Given the description of an element on the screen output the (x, y) to click on. 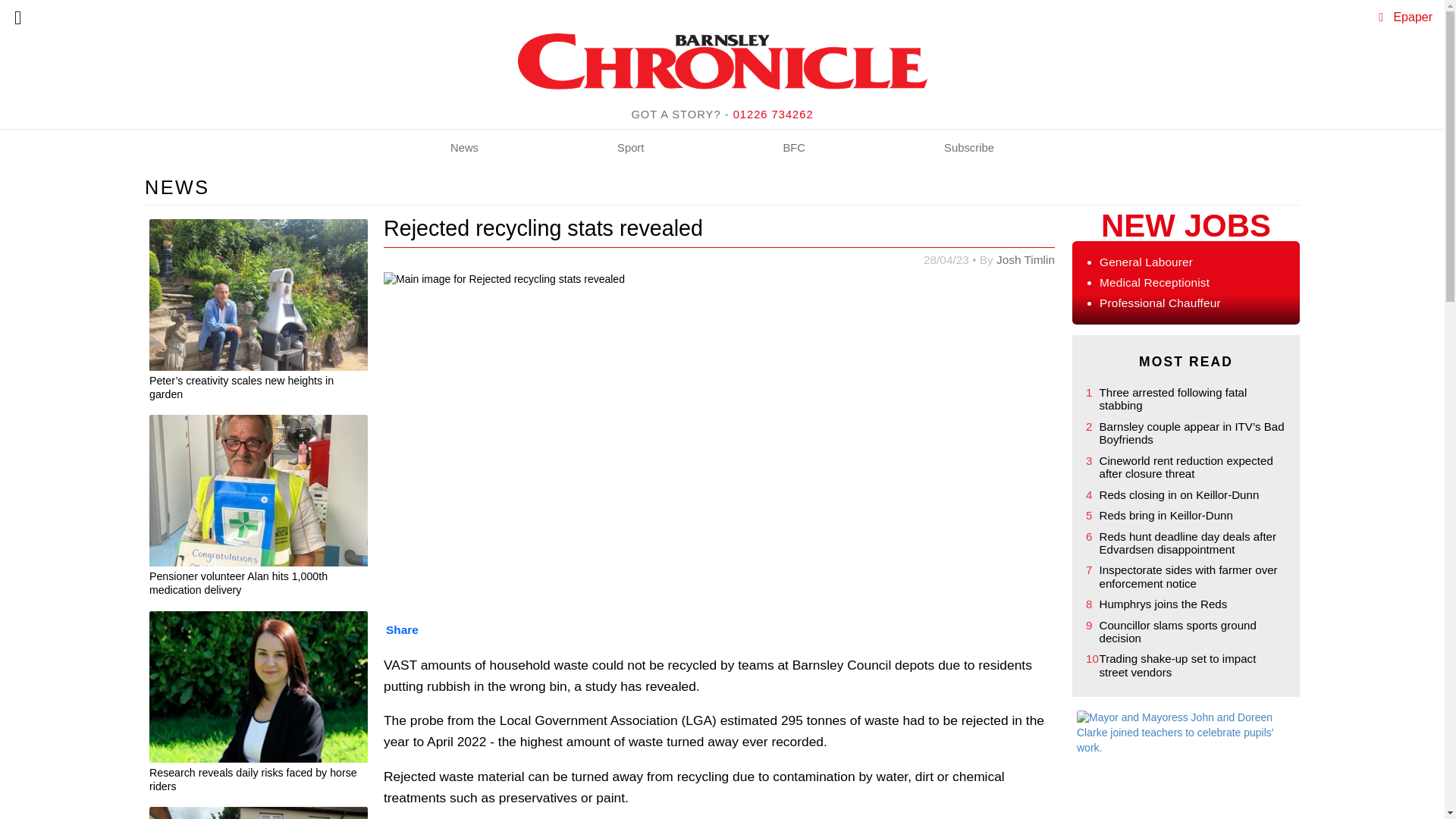
News (464, 148)
Epaper (1412, 16)
BFC (793, 148)
Subscribe (968, 148)
Sport (630, 148)
01226 734262 (773, 114)
